Given the description of an element on the screen output the (x, y) to click on. 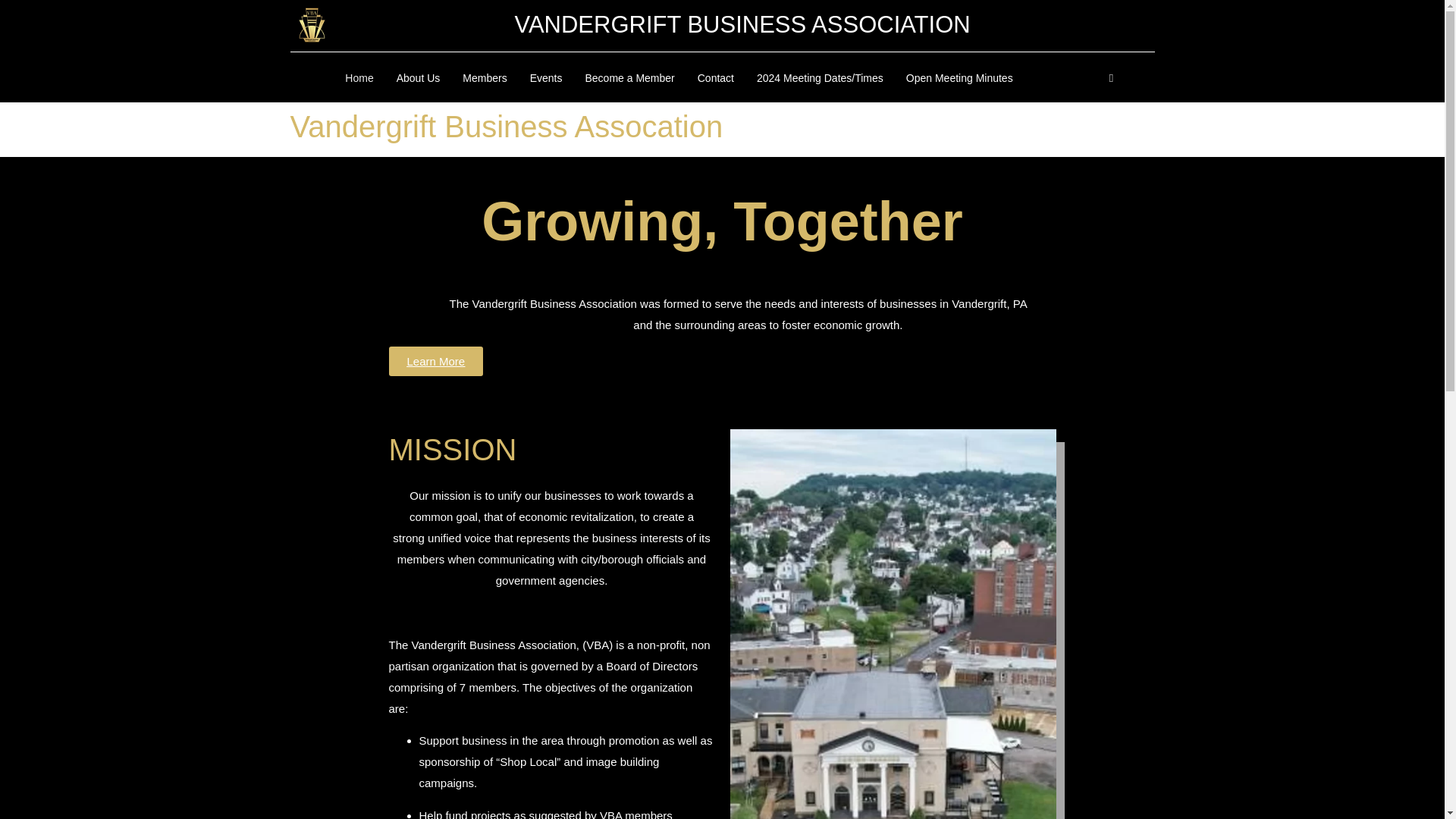
Home (358, 78)
Become a Member (629, 78)
Learn More (435, 360)
Members (484, 78)
Contact (715, 78)
Events (545, 78)
About Us (418, 78)
Open Meeting Minutes (960, 78)
